Given the description of an element on the screen output the (x, y) to click on. 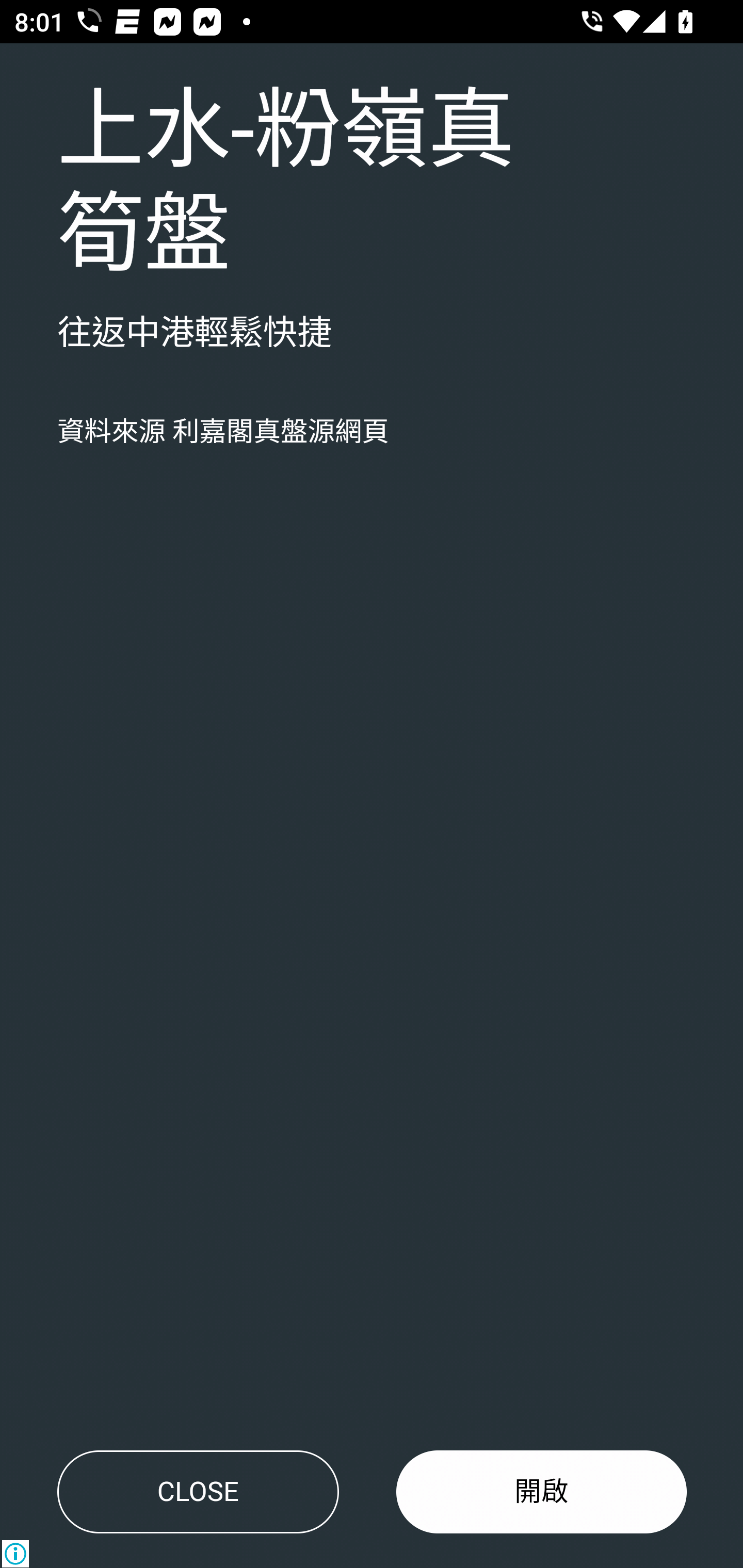
上水-粉嶺真 筍盤 上水-粉嶺真 筍盤 (285, 182)
往返中港輕鬆快捷 (194, 333)
資料來源 利嘉閣真盤源網頁 (222, 432)
CLOSE (197, 1491)
開啟 (541, 1491)
